Given the description of an element on the screen output the (x, y) to click on. 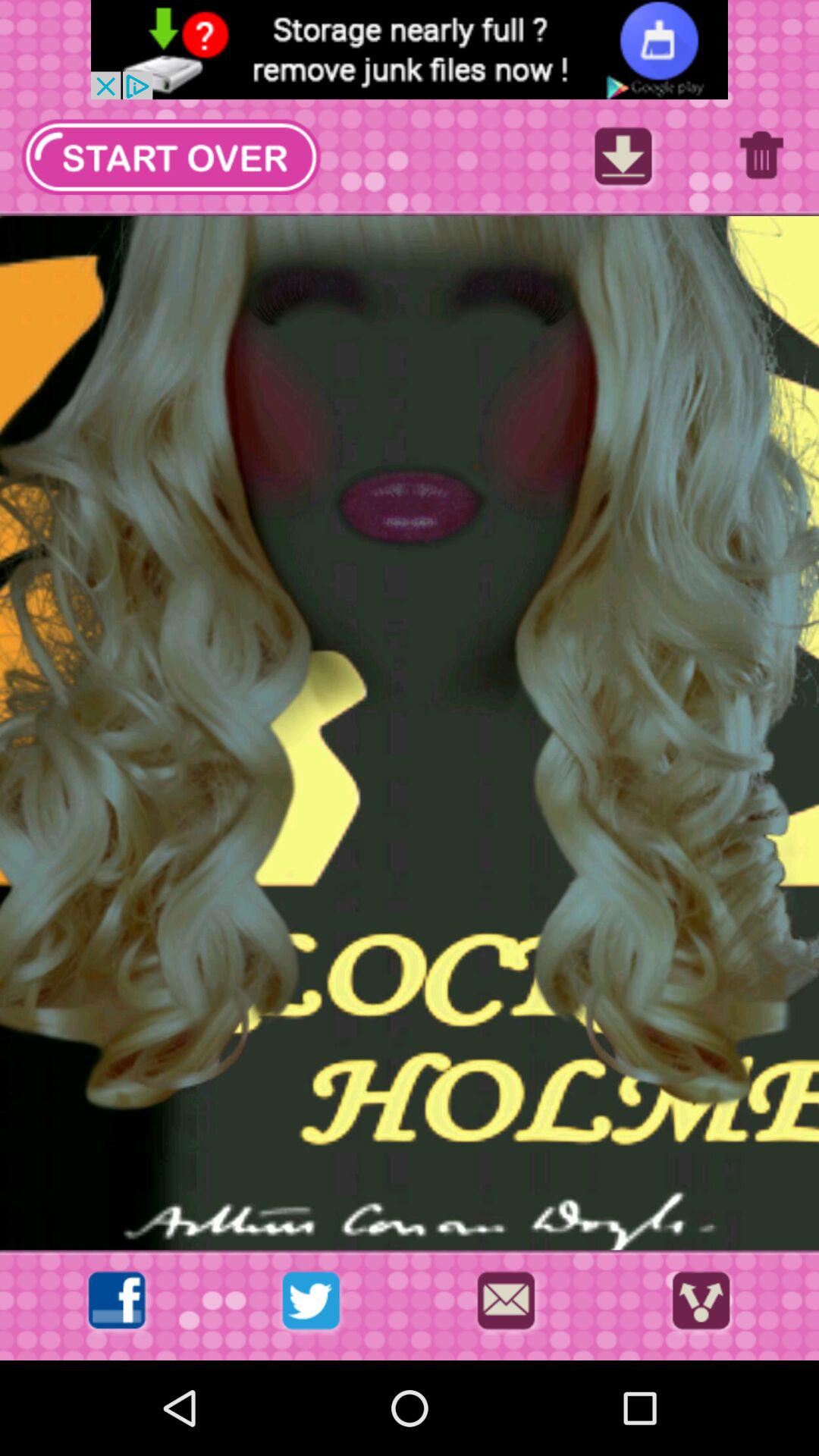
share picture (700, 1305)
